Given the description of an element on the screen output the (x, y) to click on. 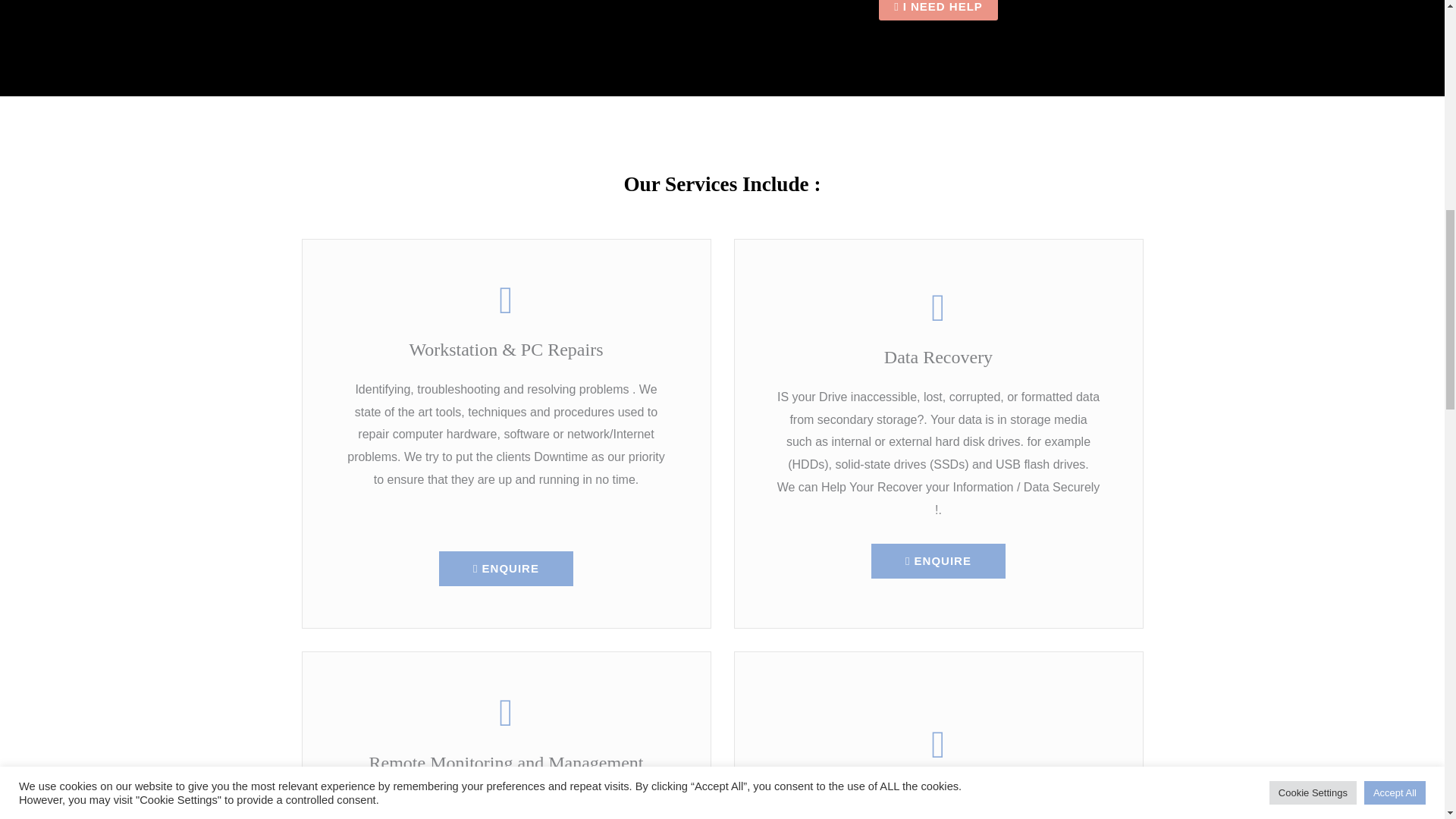
ENQUIRE (938, 560)
I NEED HELP (938, 10)
ENQUIRE (506, 568)
